Given the description of an element on the screen output the (x, y) to click on. 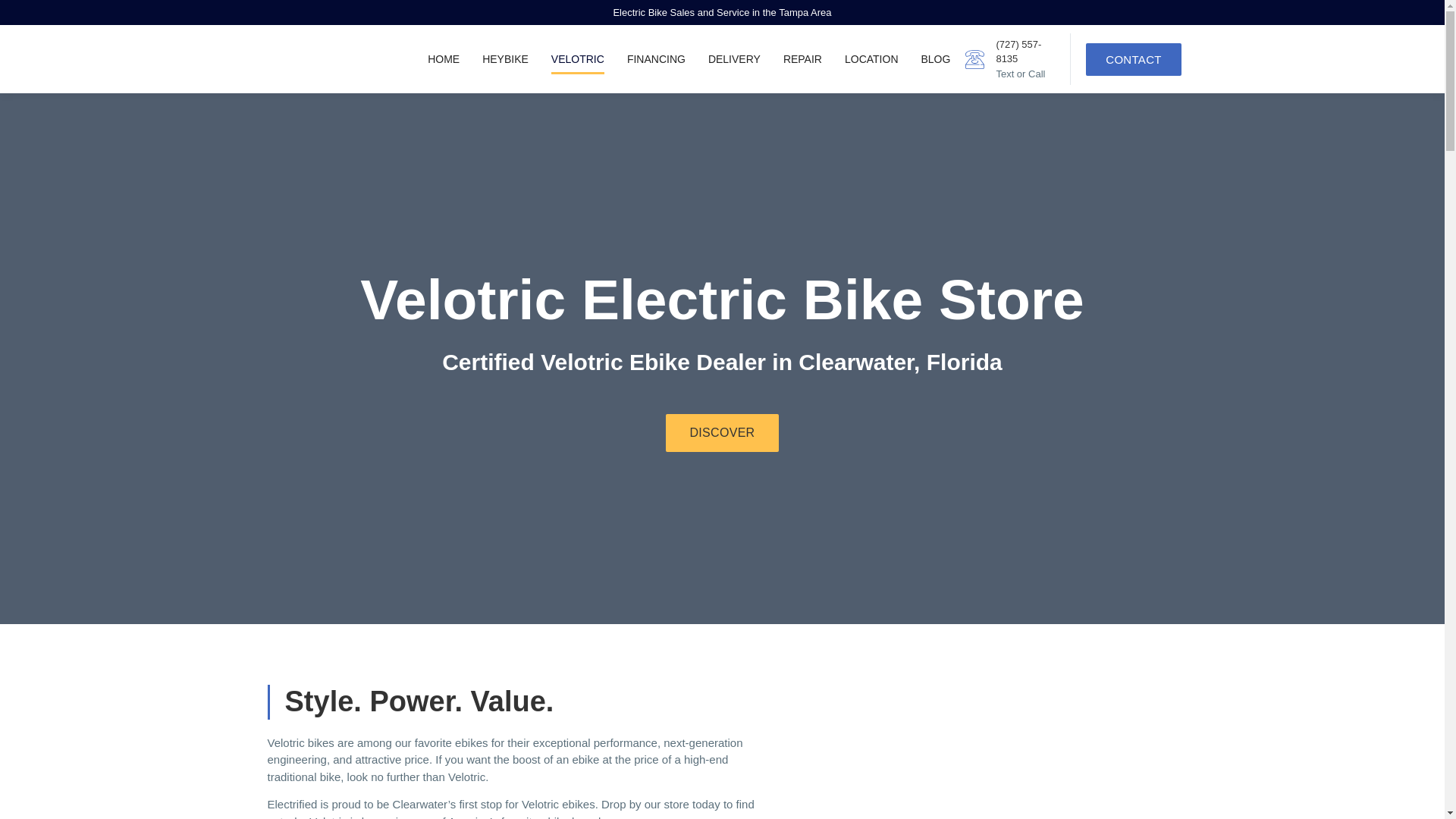
BLOG (935, 59)
LOCATION (871, 59)
HOME (444, 59)
HEYBIKE (504, 59)
DELIVERY (733, 59)
REPAIR (802, 59)
VELOTRIC (577, 59)
FINANCING (656, 59)
